Given the description of an element on the screen output the (x, y) to click on. 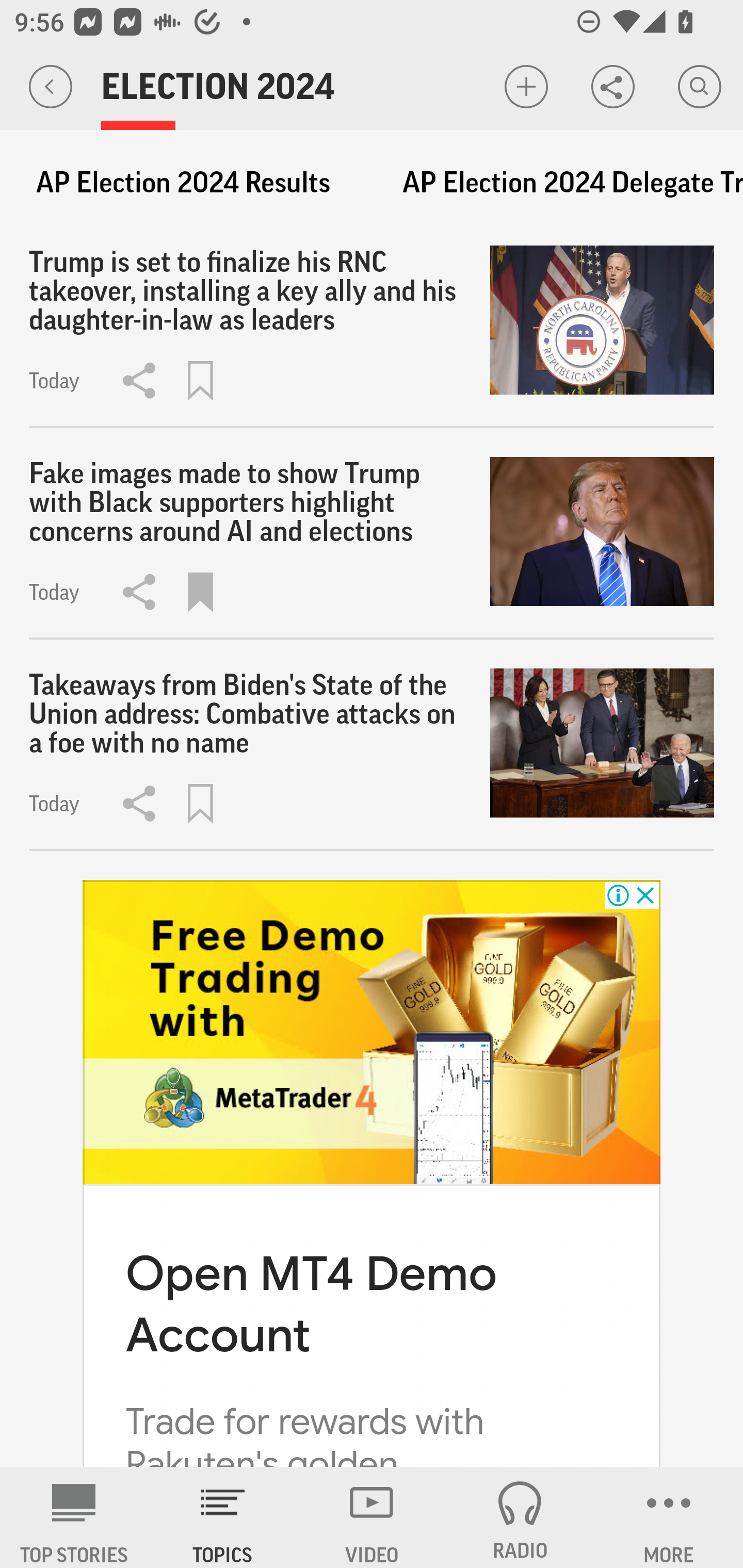
AP Election 2024 Results (182, 182)
AP Election 2024 Delegate Tracker (563, 182)
Open MT4 Demo Account Open MT4 Demo Account (310, 1303)
AP News TOP STORIES (74, 1517)
TOPICS (222, 1517)
VIDEO (371, 1517)
RADIO (519, 1517)
MORE (668, 1517)
